Given the description of an element on the screen output the (x, y) to click on. 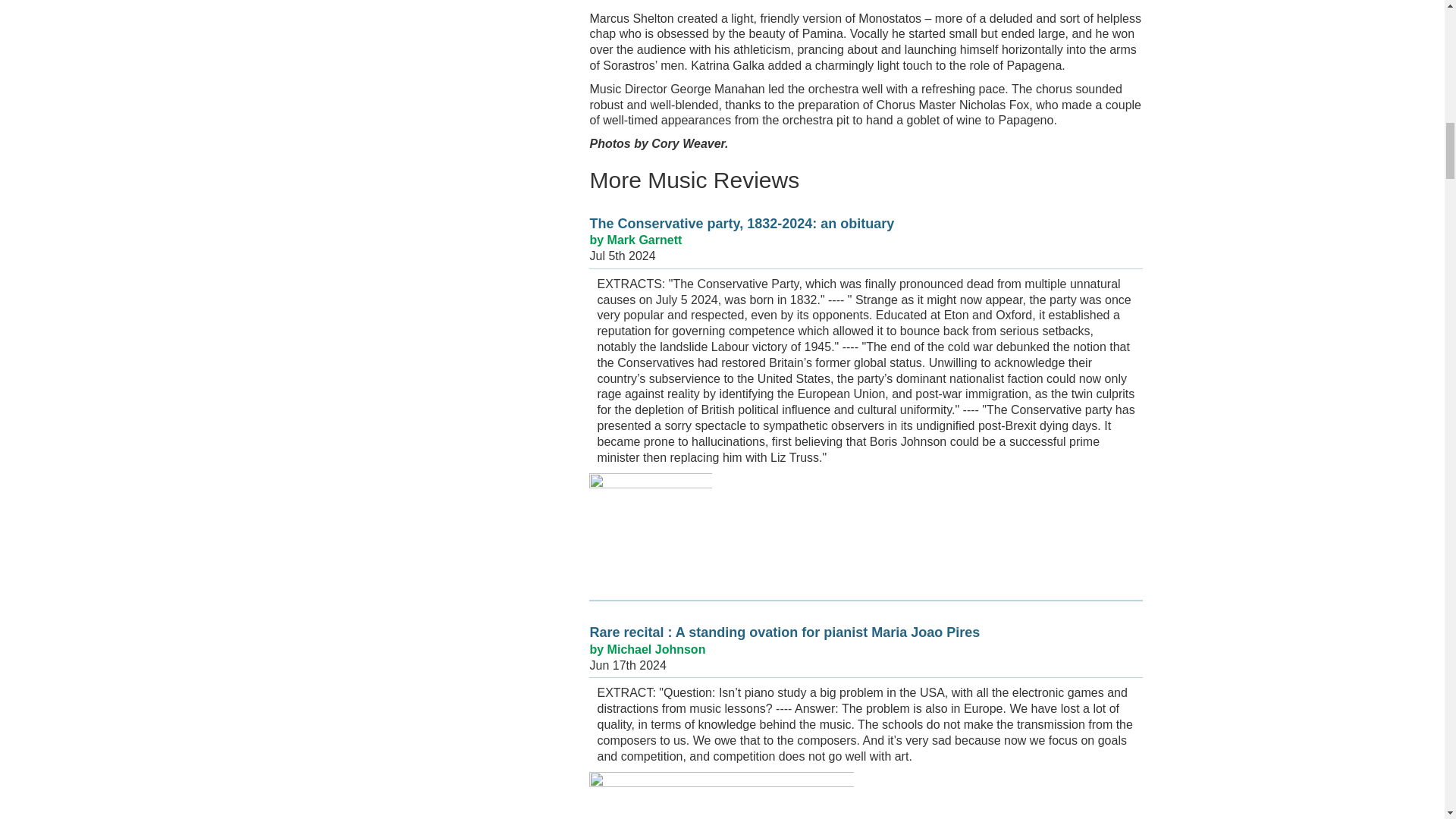
Michael Johnson (656, 649)
The Conservative party, 1832-2024: an obituary (741, 223)
Mark Garnett (644, 239)
